Given the description of an element on the screen output the (x, y) to click on. 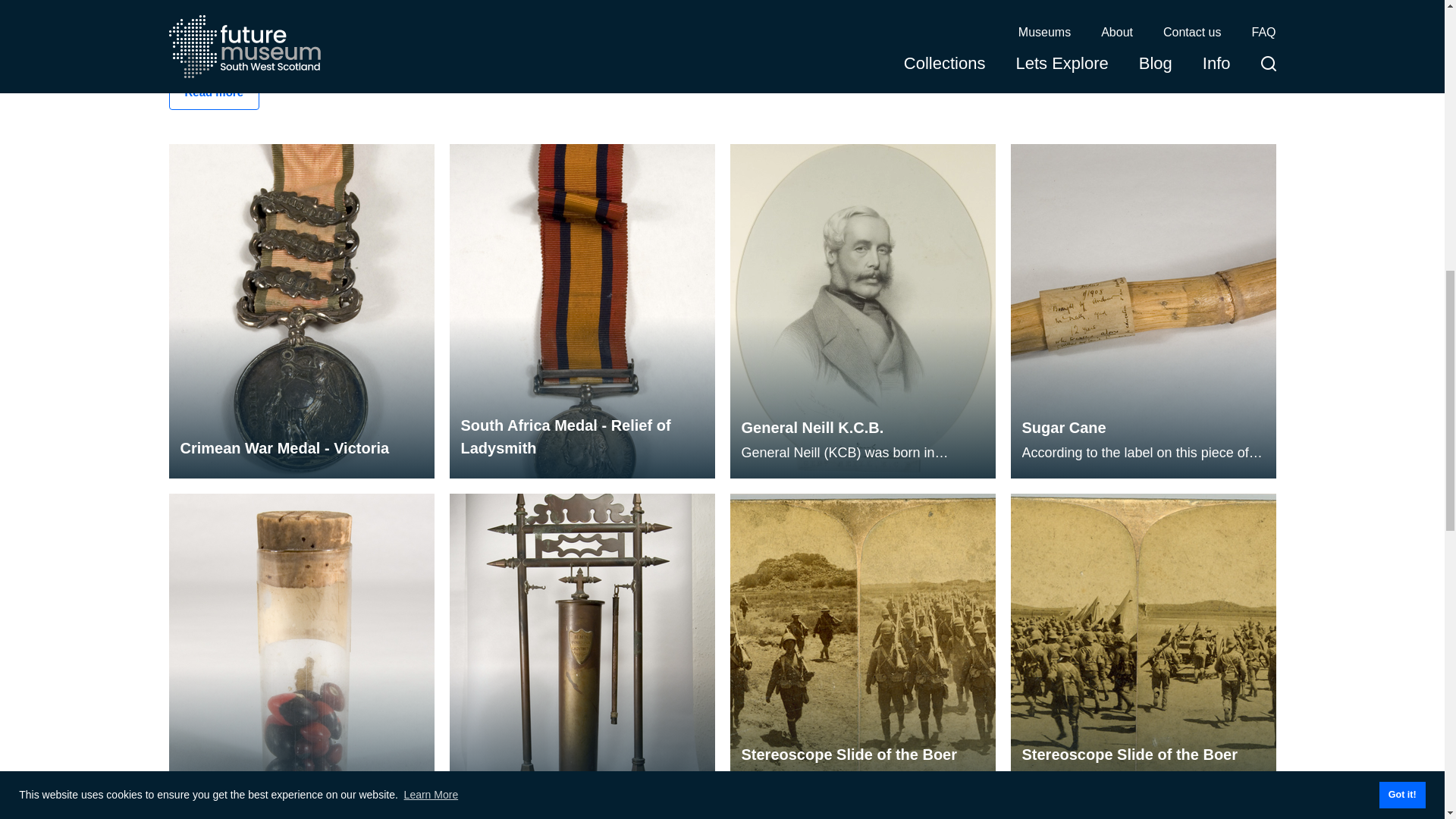
Read more (213, 92)
